Given the description of an element on the screen output the (x, y) to click on. 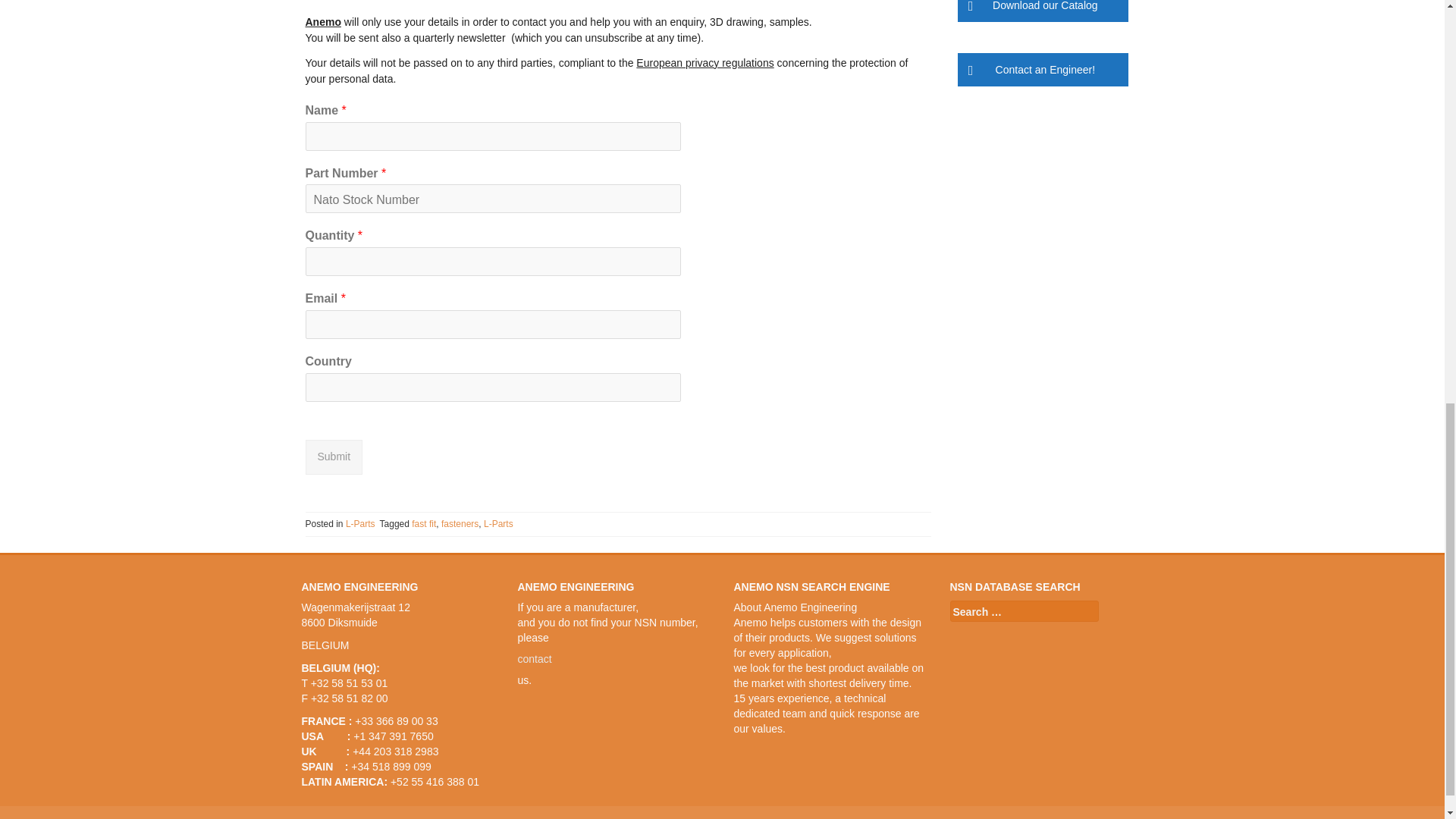
L-Parts (360, 523)
Download catalog (1041, 11)
L-Parts (498, 523)
fasteners (460, 523)
Submit (333, 457)
fast fit (423, 523)
